Given the description of an element on the screen output the (x, y) to click on. 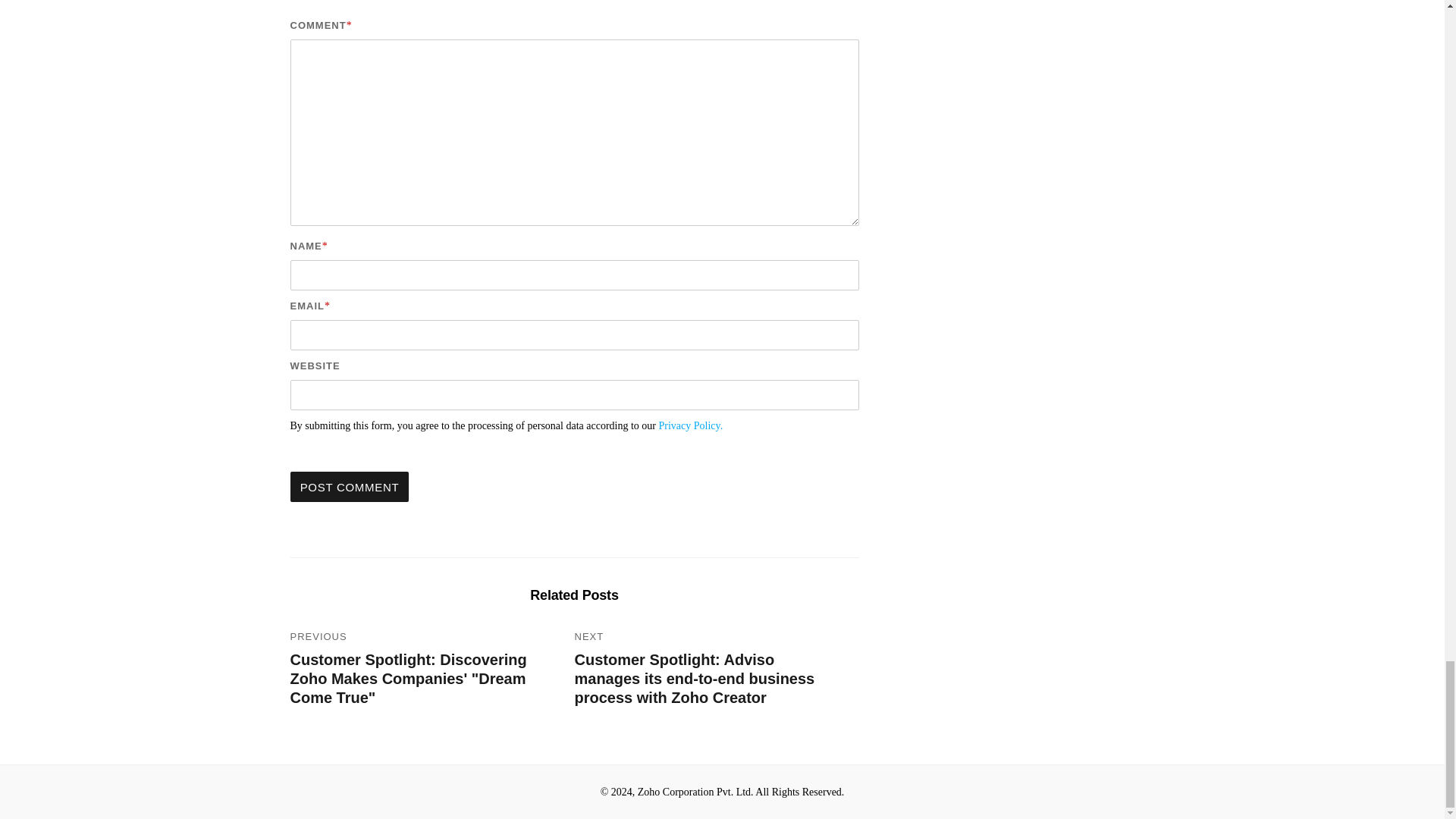
Post Comment (349, 486)
Post Comment (349, 486)
Privacy Policy. (691, 425)
